Given the description of an element on the screen output the (x, y) to click on. 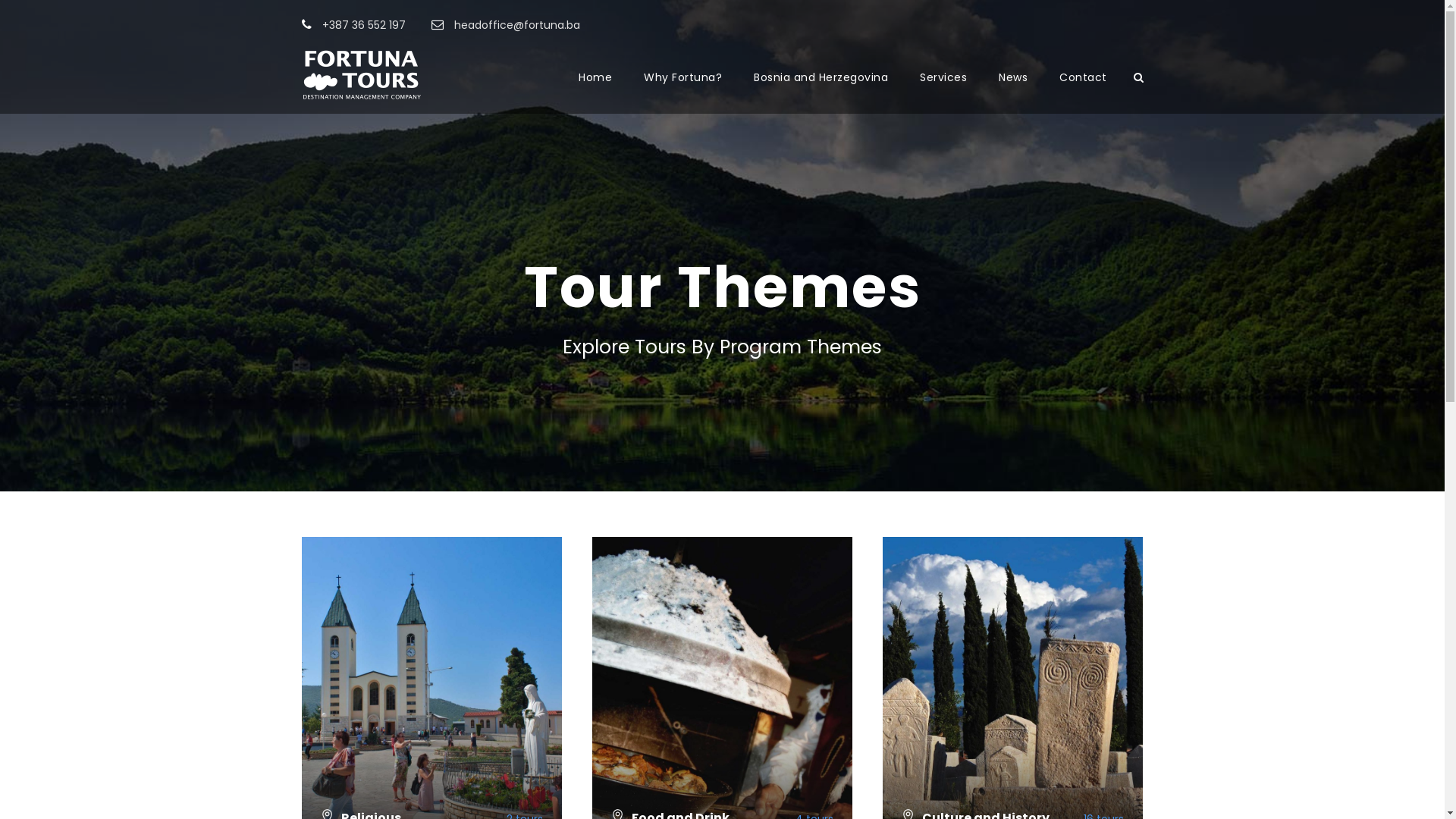
Contact Element type: text (1083, 91)
News Element type: text (1012, 91)
Why Fortuna? Element type: text (682, 91)
Home Element type: text (594, 91)
Bosnia and Herzegovina Element type: text (820, 91)
Services Element type: text (942, 91)
